Given the description of an element on the screen output the (x, y) to click on. 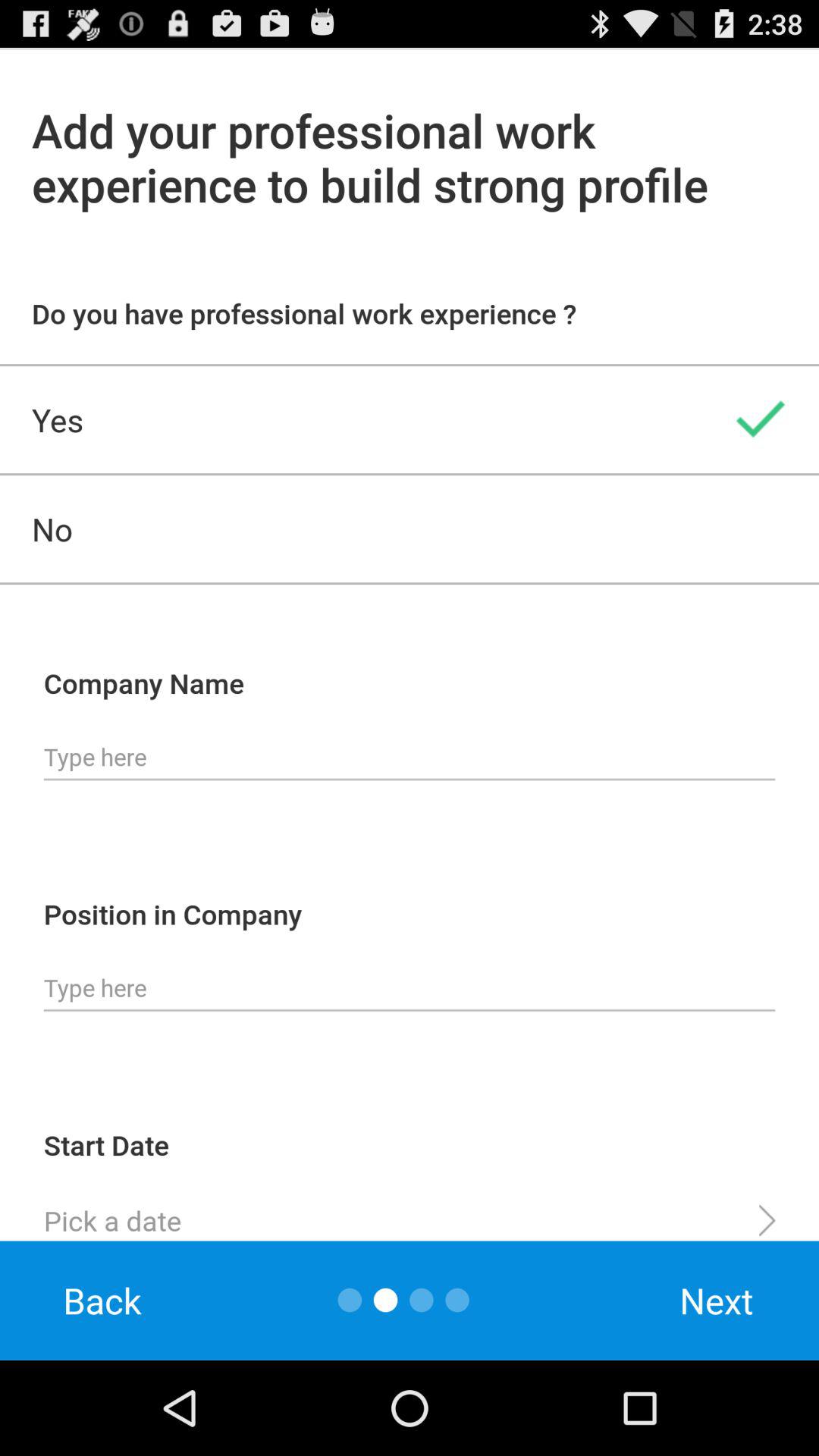
turn on icon at the bottom left corner (102, 1300)
